Given the description of an element on the screen output the (x, y) to click on. 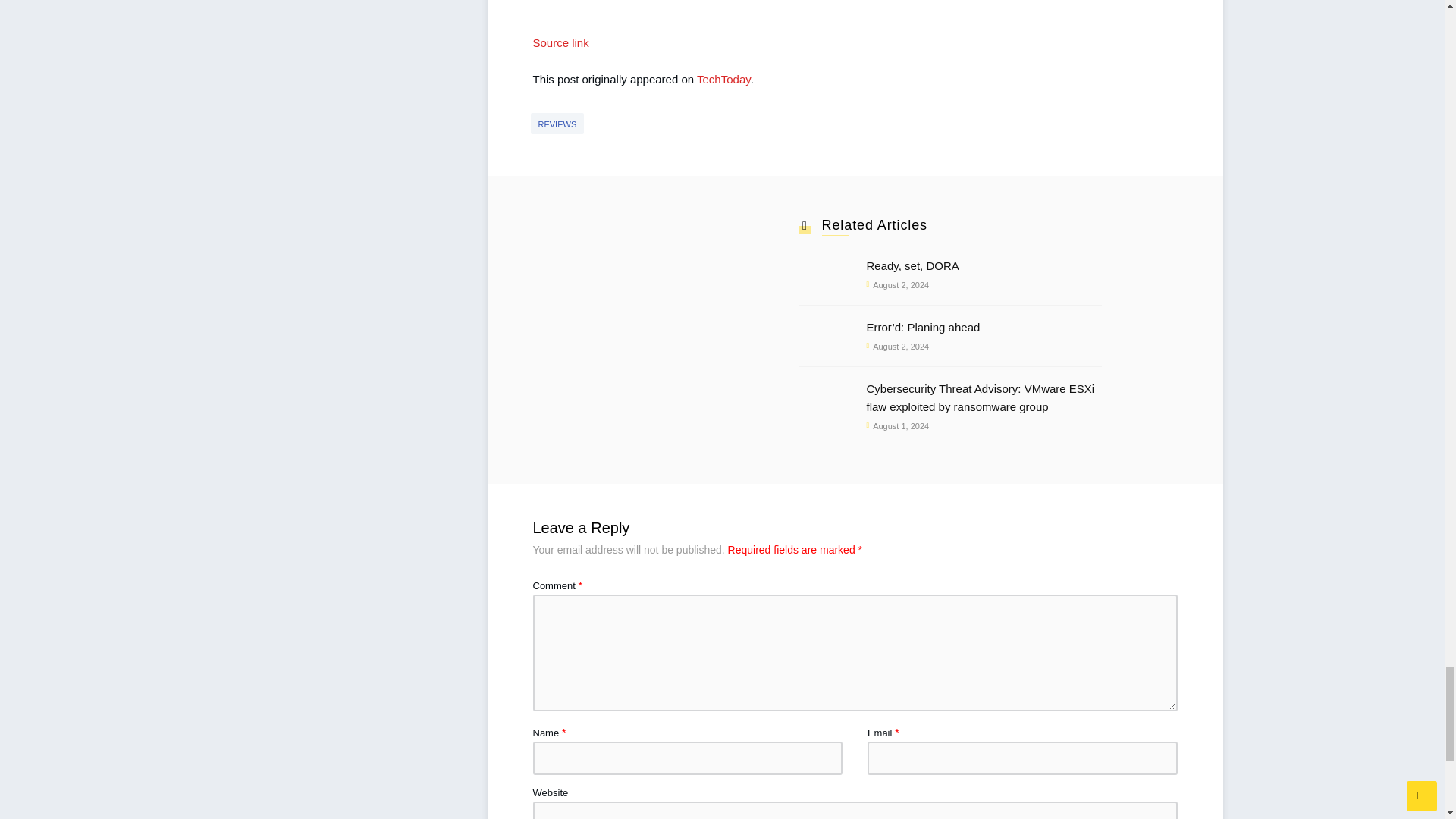
Ready, set, DORA (983, 266)
Source link (560, 42)
REVIEWS (558, 123)
TechToday (724, 78)
